Given the description of an element on the screen output the (x, y) to click on. 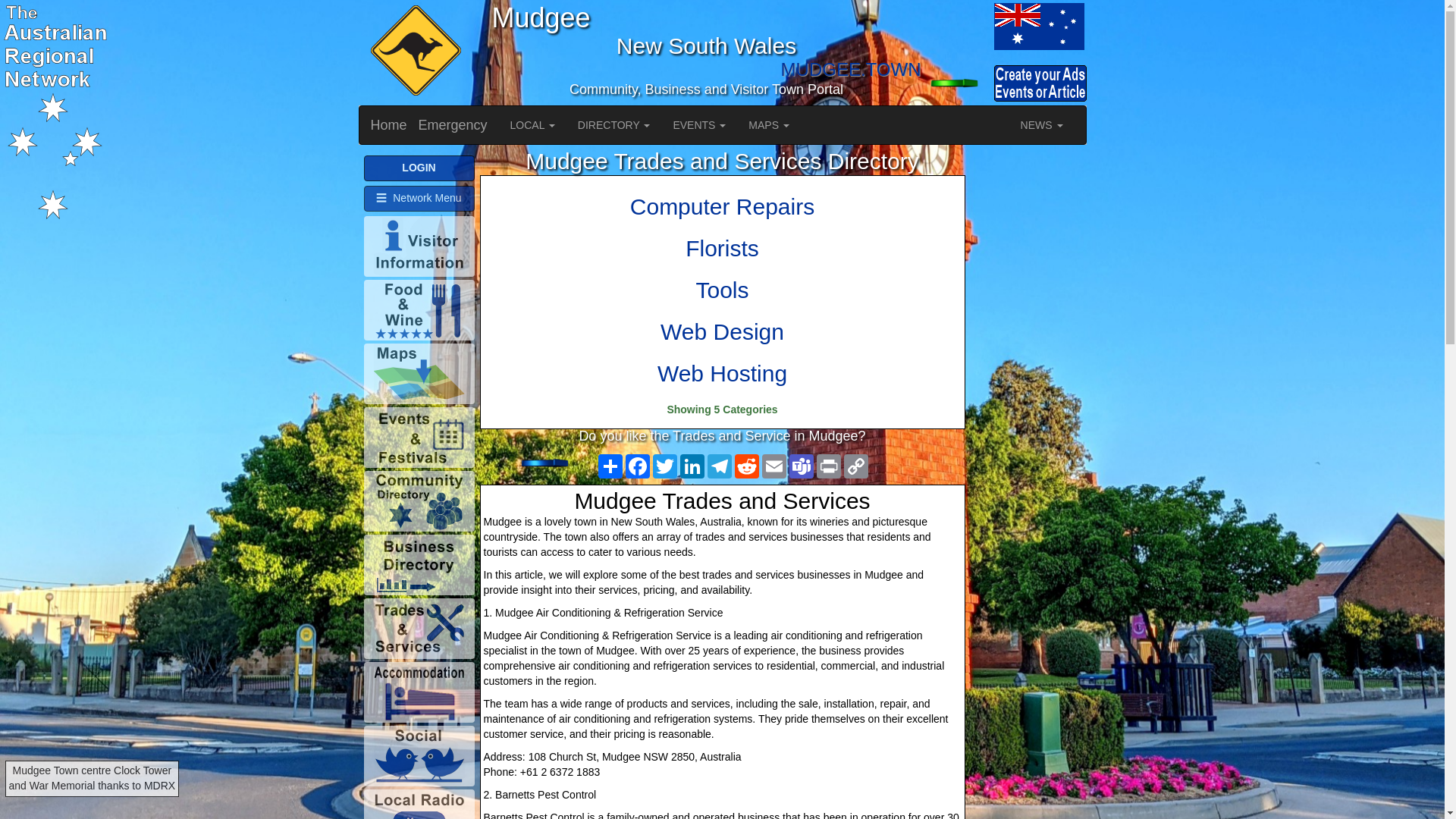
DIRECTORY (614, 125)
Australia (956, 26)
Please like our Page (548, 463)
Login to mudgee.town (956, 83)
Mudgee Skippycoin ICG (413, 52)
Mudgee Australia (1037, 26)
LOCAL (532, 125)
Home (389, 125)
Emergency (453, 125)
